Given the description of an element on the screen output the (x, y) to click on. 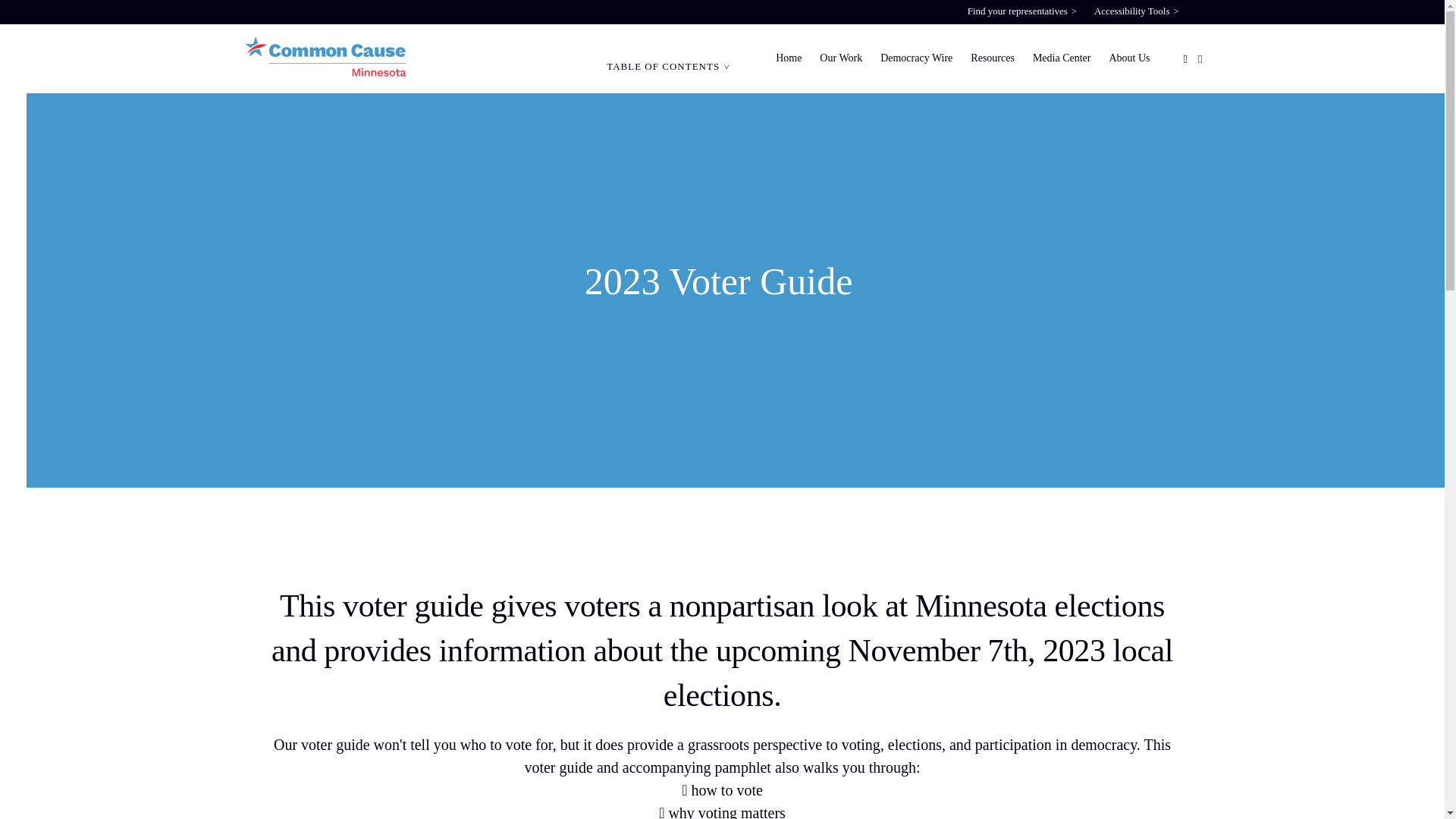
Press enter to search (785, 465)
